Given the description of an element on the screen output the (x, y) to click on. 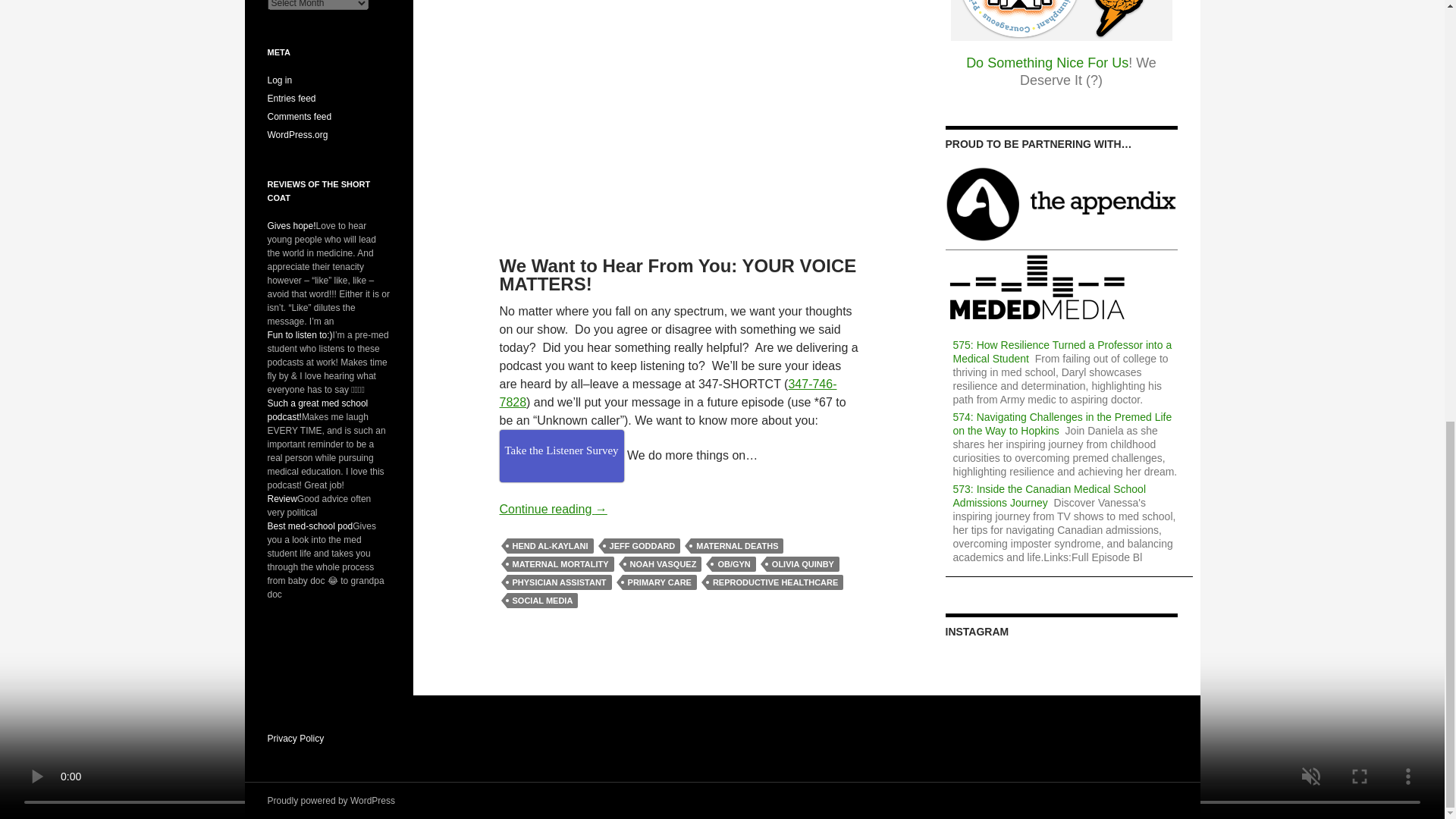
Take the Listener Survey (561, 455)
347-746-7828 (667, 392)
HEND AL-KAYLANI (549, 545)
MATERNAL MORTALITY (559, 563)
YouTube video player (679, 103)
NOAH VASQUEZ (662, 563)
MATERNAL DEATHS (736, 545)
OLIVIA QUINBY (803, 563)
JEFF GODDARD (642, 545)
